Given the description of an element on the screen output the (x, y) to click on. 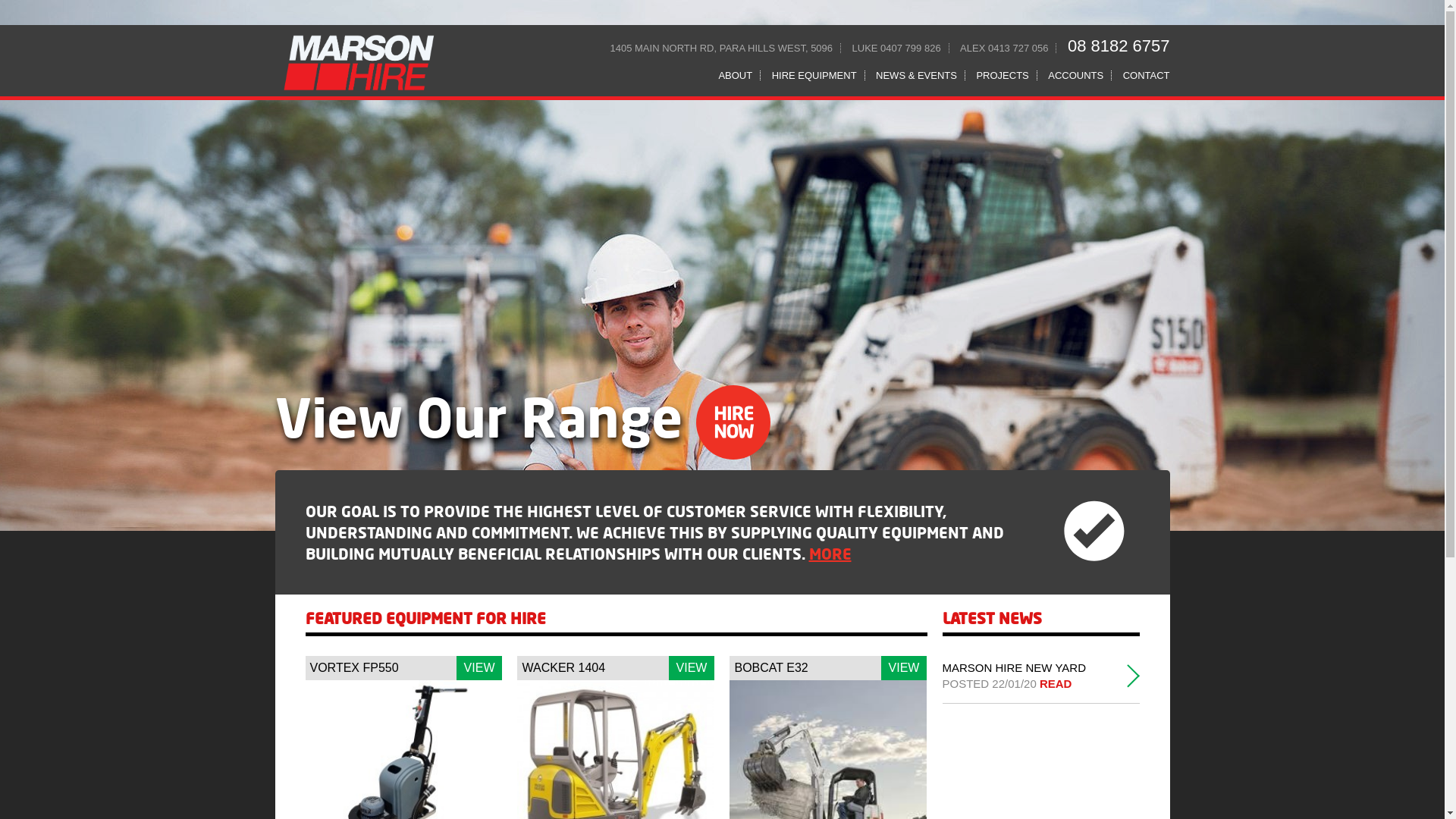
PROJECTS Element type: text (1002, 75)
CONTACT Element type: text (1142, 75)
NEWS & EVENTS Element type: text (916, 75)
HIRE EQUIPMENT Element type: text (814, 75)
MARSON HIRE NEW YARD
POSTED 22/01/20 READ Element type: text (1031, 675)
ABOUT Element type: text (735, 75)
View Our Range Element type: text (521, 415)
MORE Element type: text (829, 553)
ACCOUNTS Element type: text (1075, 75)
